Given the description of an element on the screen output the (x, y) to click on. 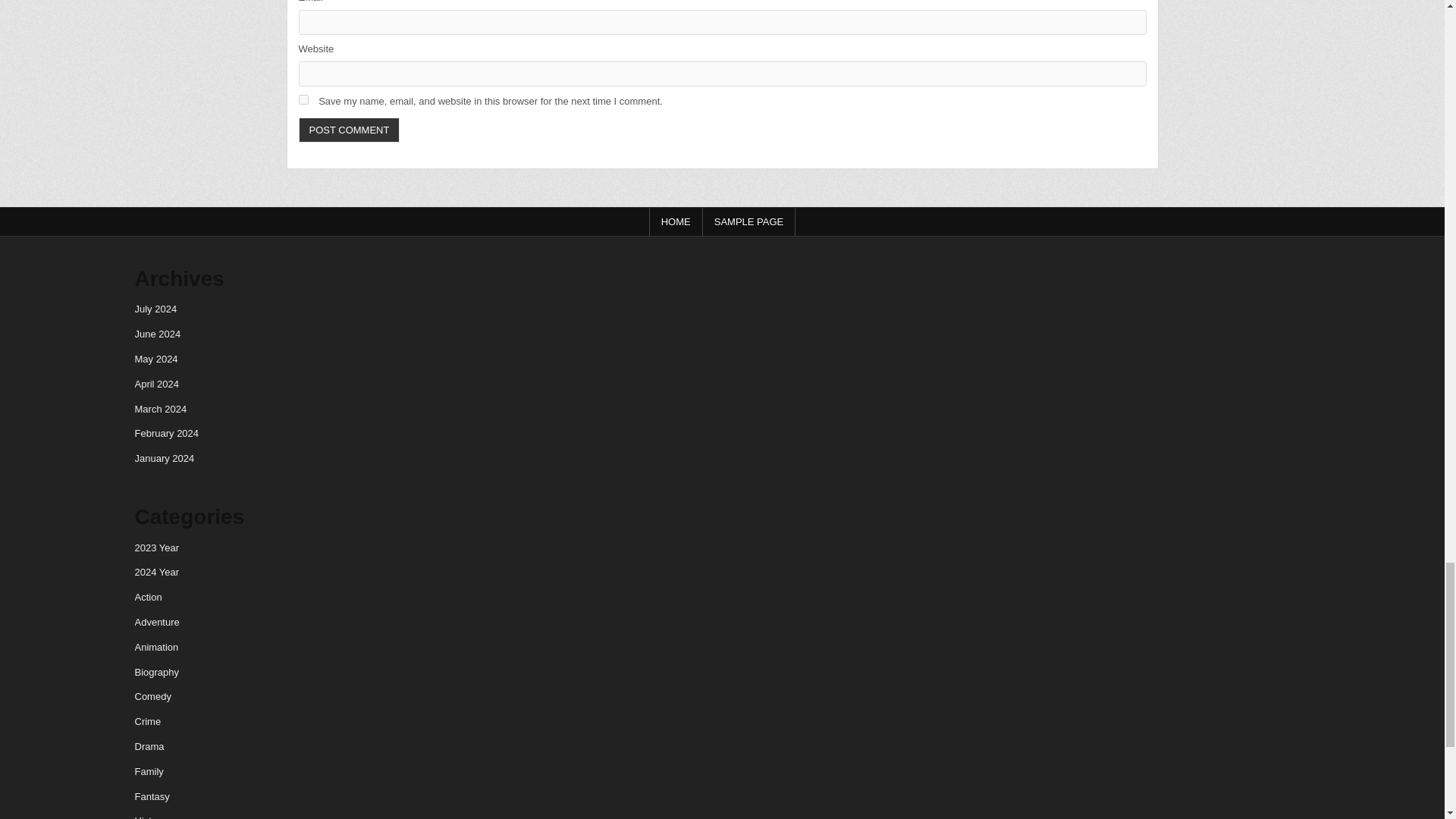
HOME (676, 221)
yes (303, 99)
SAMPLE PAGE (749, 221)
July 2024 (156, 308)
Post Comment (349, 129)
June 2024 (157, 333)
Post Comment (349, 129)
May 2024 (156, 358)
